Given the description of an element on the screen output the (x, y) to click on. 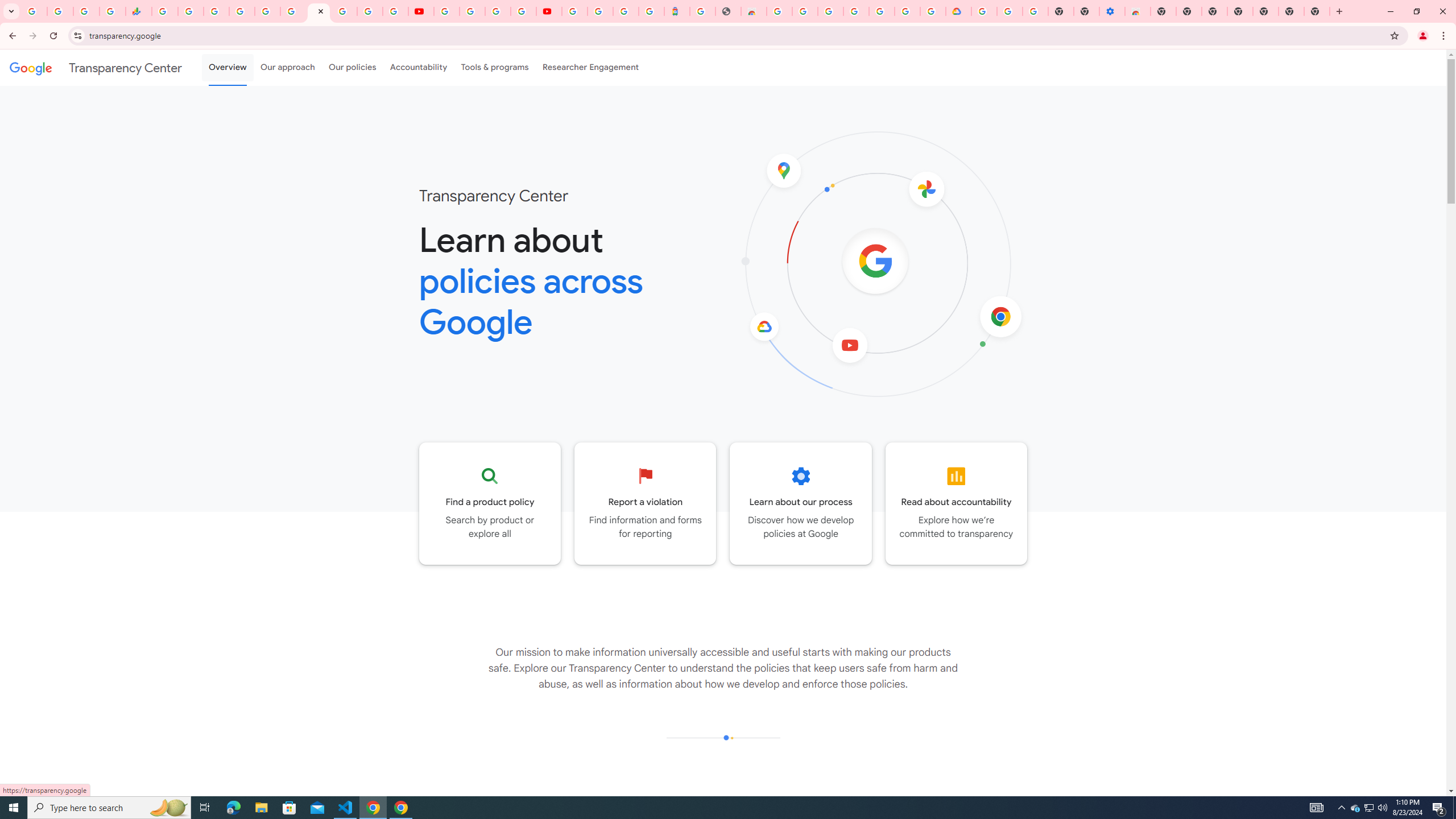
Google Workspace Admin Community (34, 11)
Search tabs (10, 11)
New Tab (1316, 11)
Sign in - Google Accounts (983, 11)
Bookmark this tab (1393, 35)
Go to the Reporting and appeals page (645, 503)
Sign in - Google Accounts (830, 11)
Our policies (351, 67)
Settings - Accessibility (1111, 11)
Sign in - Google Accounts (344, 11)
YouTube (446, 11)
